Given the description of an element on the screen output the (x, y) to click on. 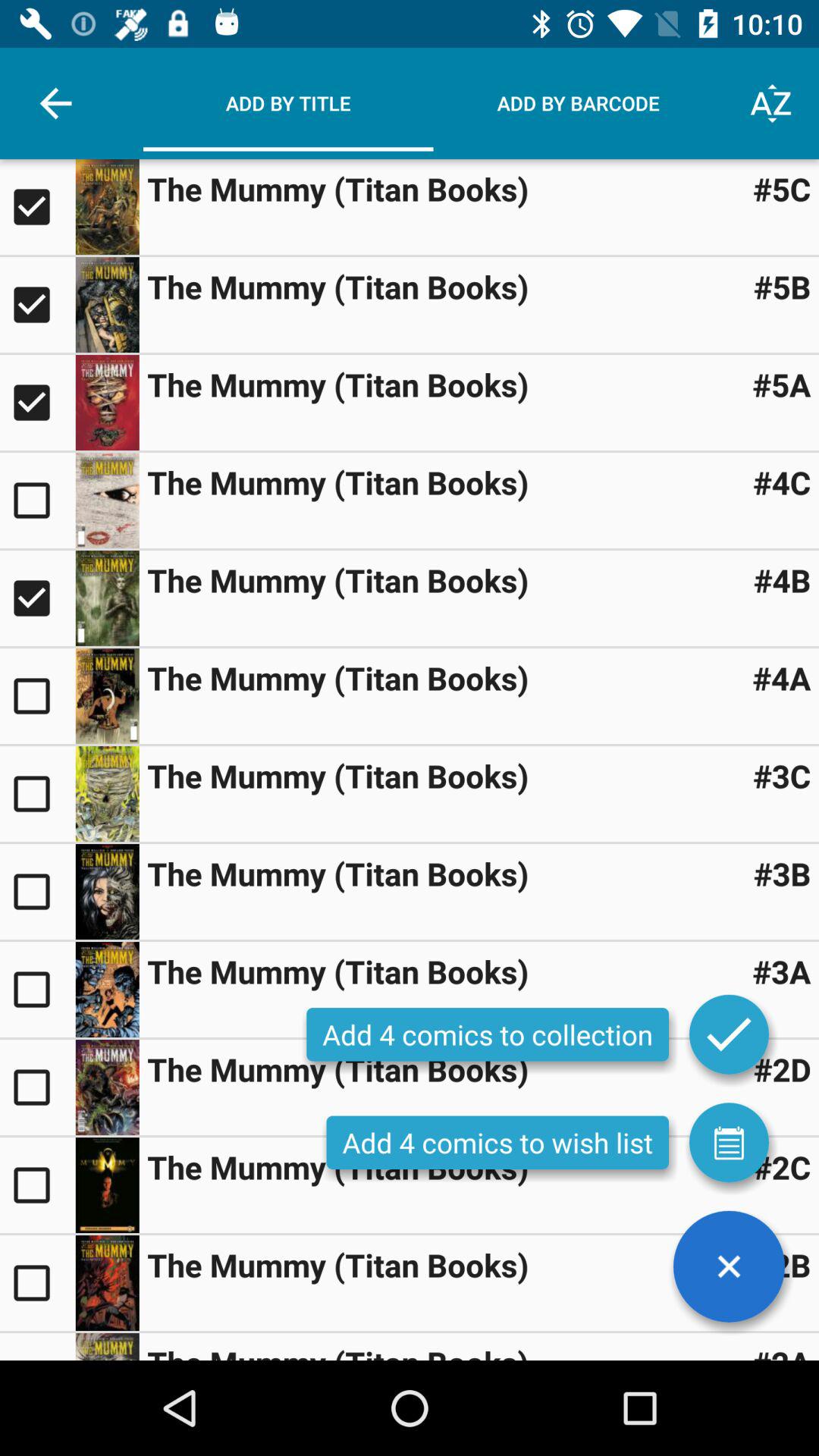
select title (37, 402)
